Given the description of an element on the screen output the (x, y) to click on. 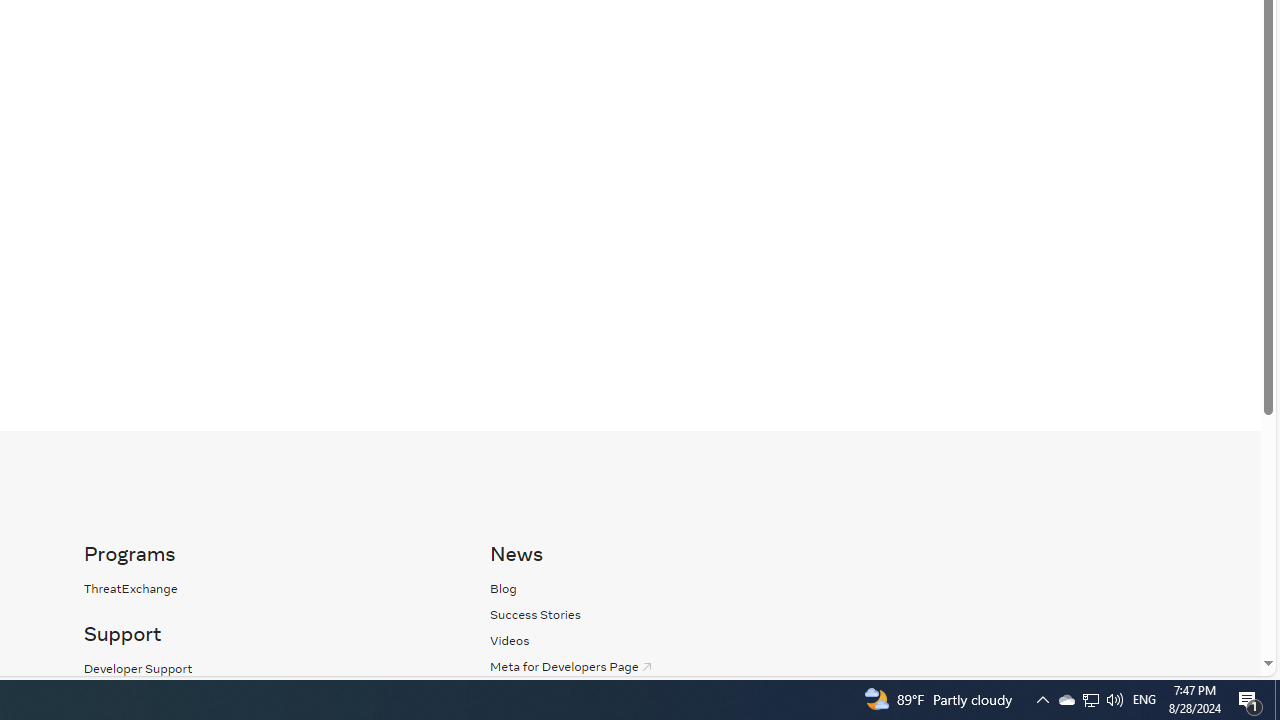
ThreatExchange (130, 588)
Developer Support (266, 668)
Videos (672, 640)
Blog (672, 588)
Videos (509, 640)
Developer Support (138, 668)
Success Stories (672, 614)
Meta for Developers Page (672, 666)
Success Stories (535, 614)
ThreatExchange (266, 588)
Blog (503, 588)
Meta for Developers Page (572, 665)
